Given the description of an element on the screen output the (x, y) to click on. 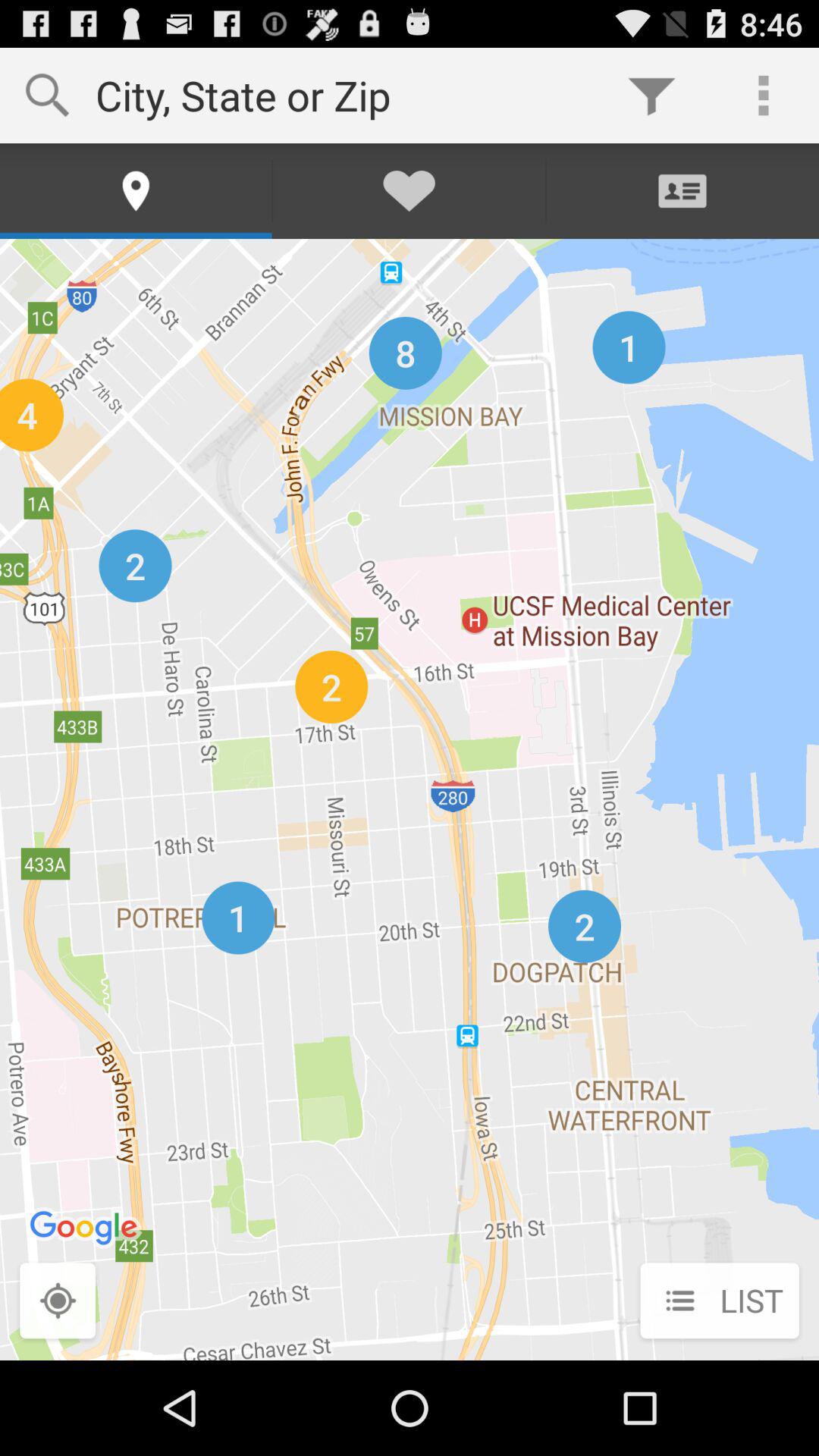
open item next to city state or icon (651, 95)
